Given the description of an element on the screen output the (x, y) to click on. 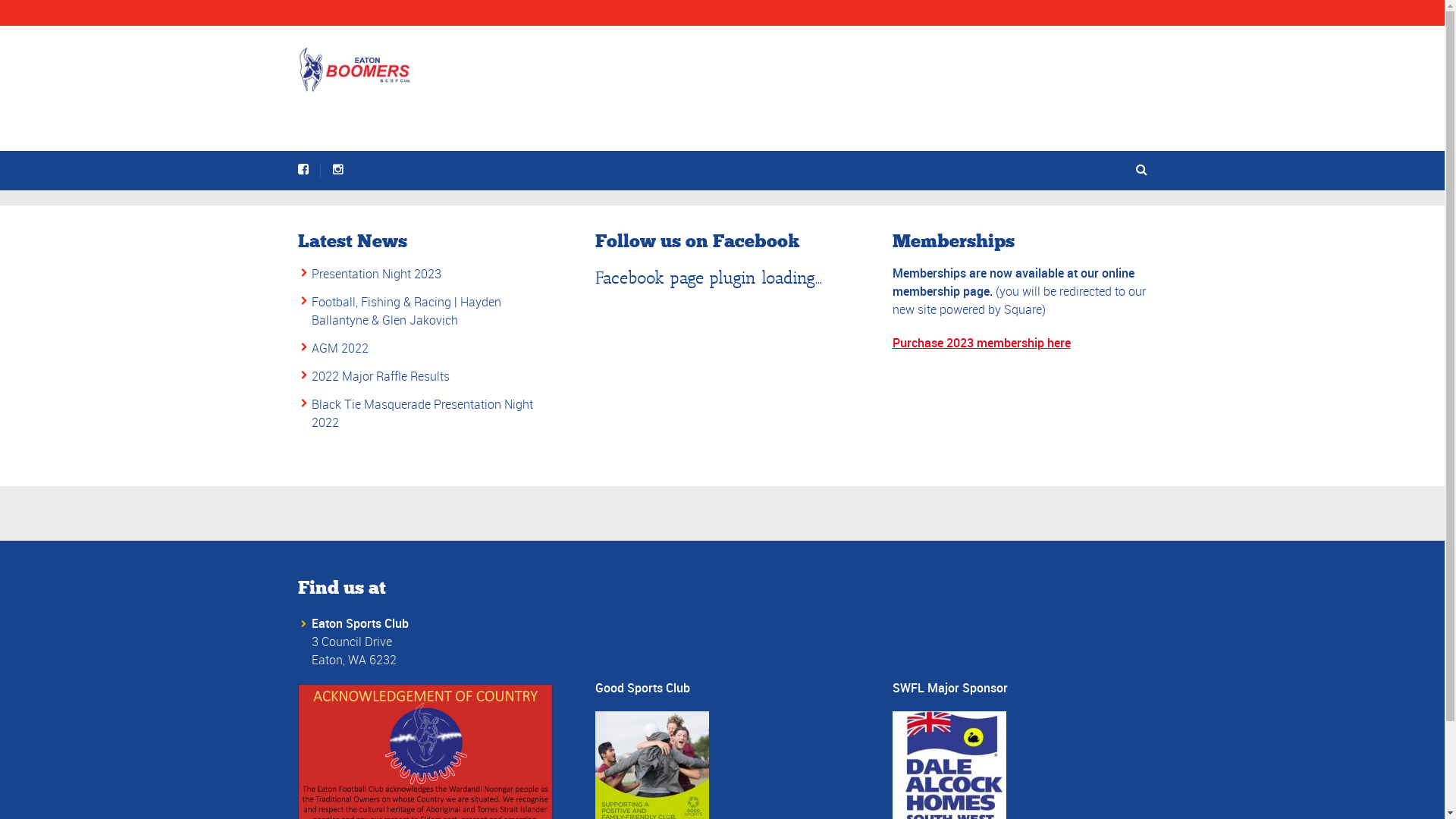
2022 Major Raffle Results Element type: text (379, 375)
Purchase 2023 membership here Element type: text (980, 342)
Black Tie Masquerade Presentation Night 2022 Element type: text (421, 412)
AGM 2022 Element type: text (338, 347)
Facebook page plugin loading... Element type: text (707, 277)
Presentation Night 2023 Element type: text (375, 273)
